Given the description of an element on the screen output the (x, y) to click on. 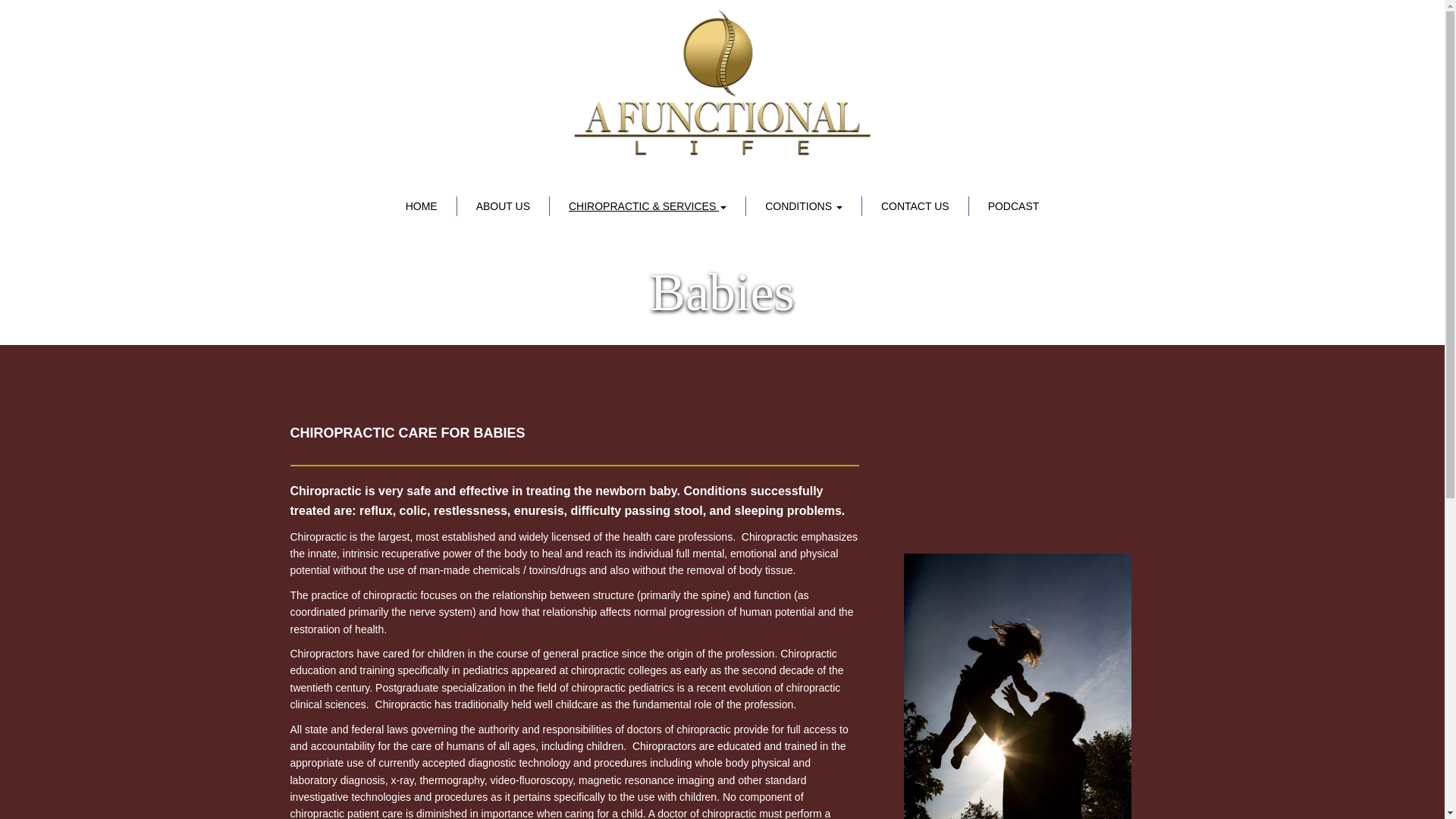
PODCAST (1013, 206)
HOME (422, 206)
Babies (721, 291)
CONTACT US (915, 206)
ABOUT US (503, 206)
CONDITIONS (803, 206)
